Given the description of an element on the screen output the (x, y) to click on. 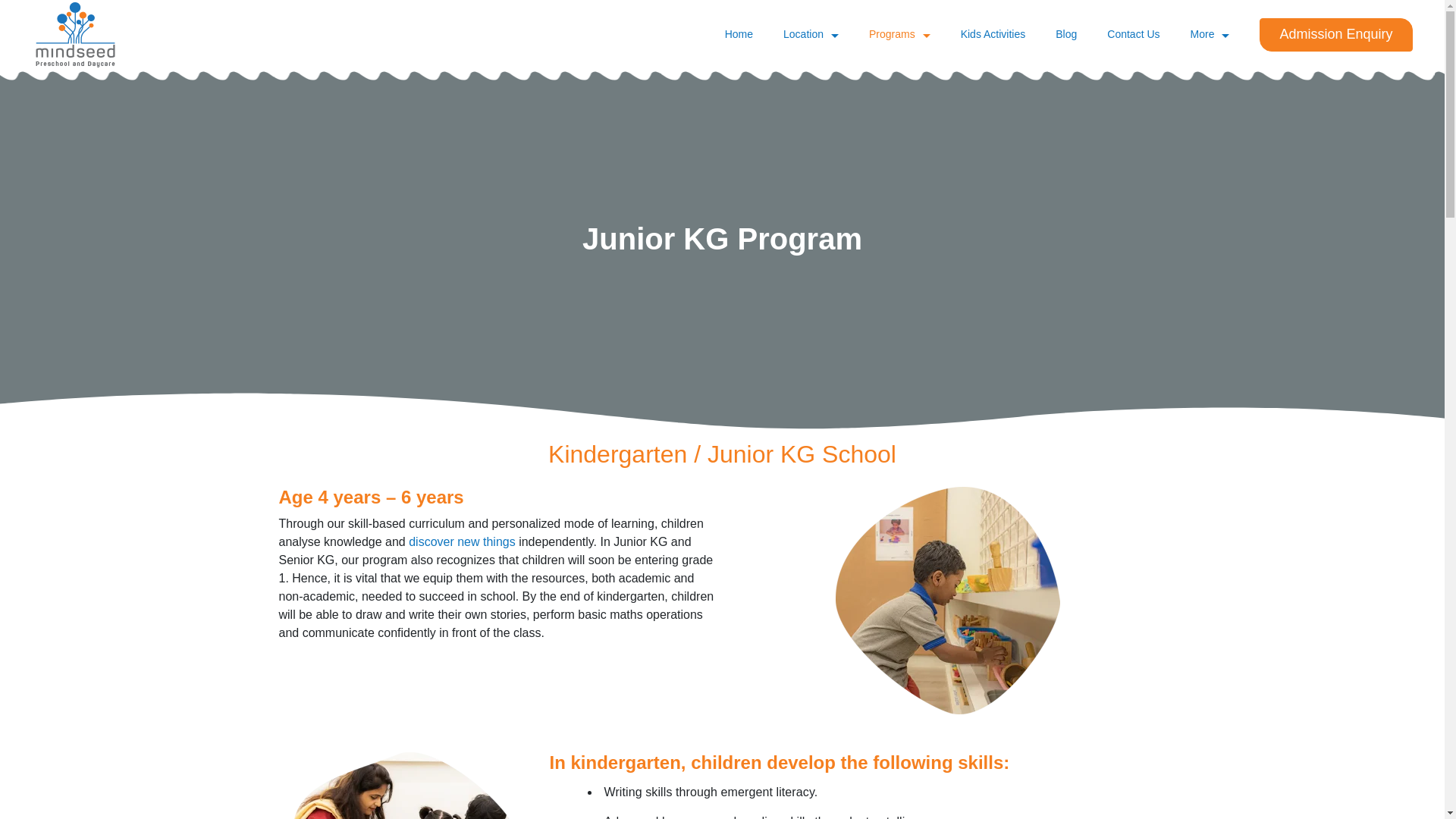
Programs (898, 34)
Home (746, 34)
Location (810, 34)
